Given the description of an element on the screen output the (x, y) to click on. 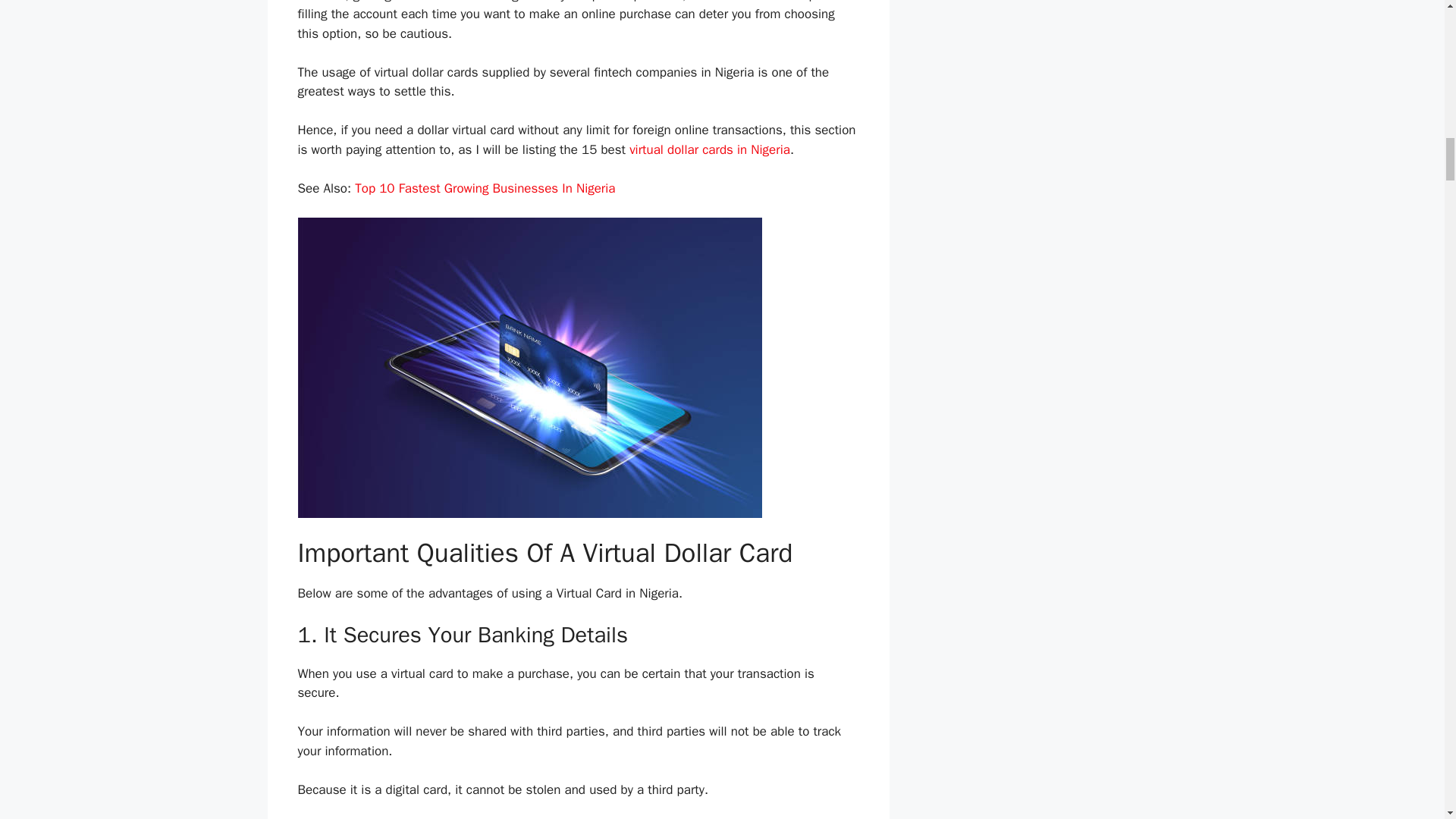
virtual dollar cards in Nigeria (709, 149)
Top 10 Fastest Growing Businesses In Nigeria (484, 188)
